Given the description of an element on the screen output the (x, y) to click on. 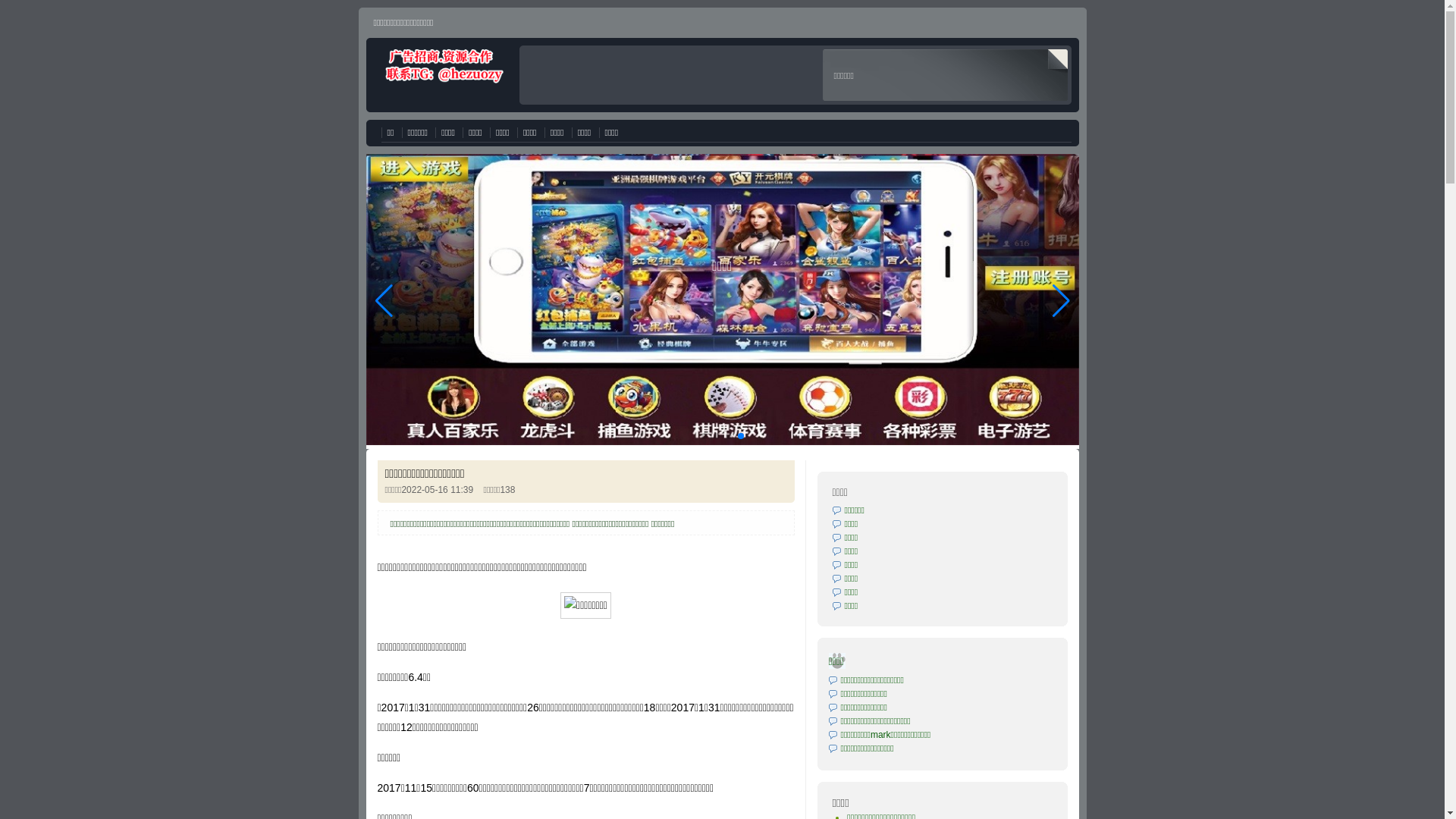
. Element type: text (721, 266)
